Given the description of an element on the screen output the (x, y) to click on. 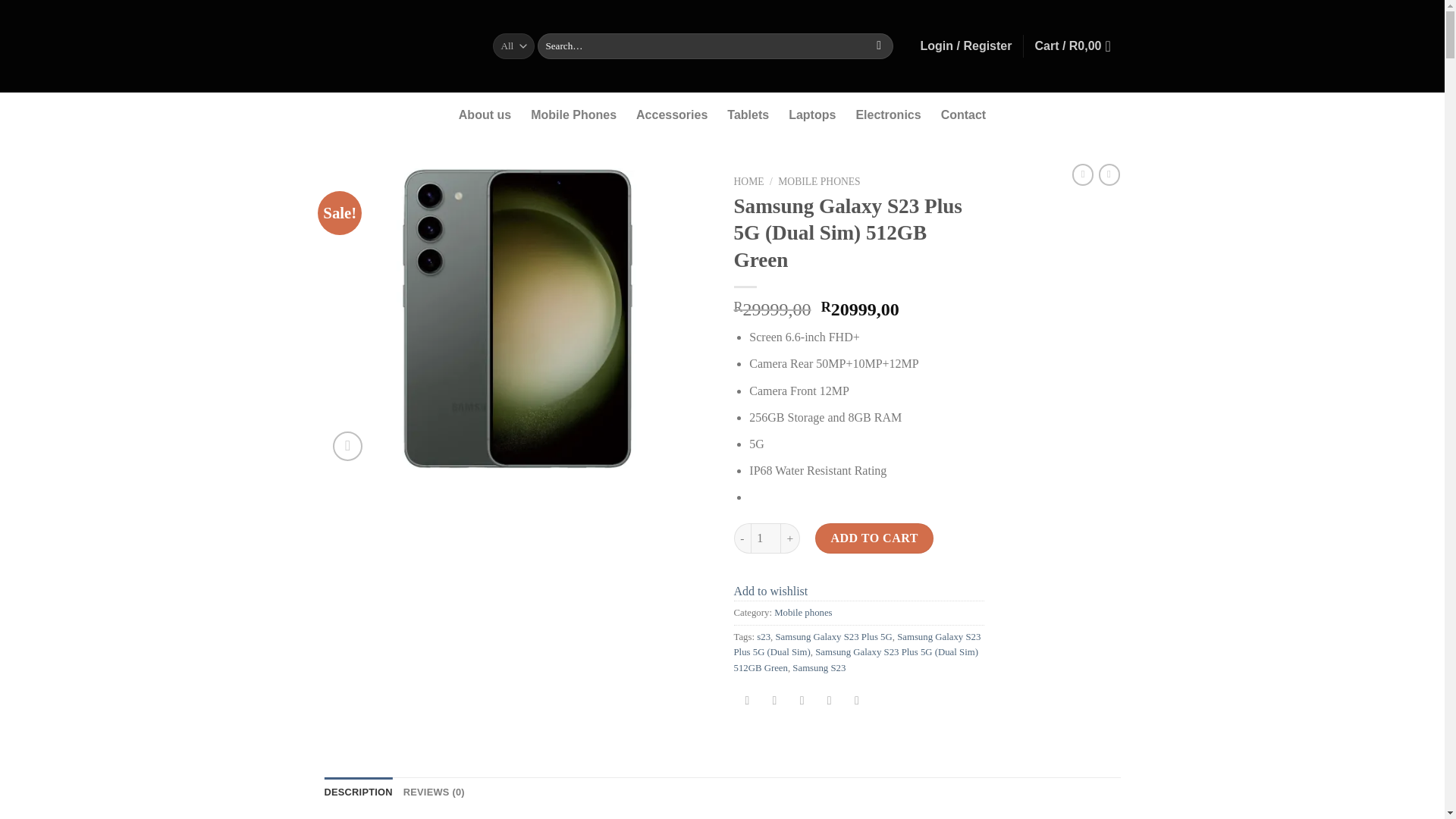
Add to wishlist (770, 590)
Search (878, 45)
ADD TO CART (874, 538)
s23 (763, 636)
MOBILE PHONES (818, 181)
Tablets (747, 114)
Electronics (888, 114)
Mobile Phones (573, 114)
Share on LinkedIn (856, 701)
Zoom (347, 446)
Contact (963, 114)
Share on Facebook (747, 701)
Share on Twitter (774, 701)
Samsung Galaxy S23 Plus 5G (832, 636)
Samsung S23 (818, 667)
